Given the description of an element on the screen output the (x, y) to click on. 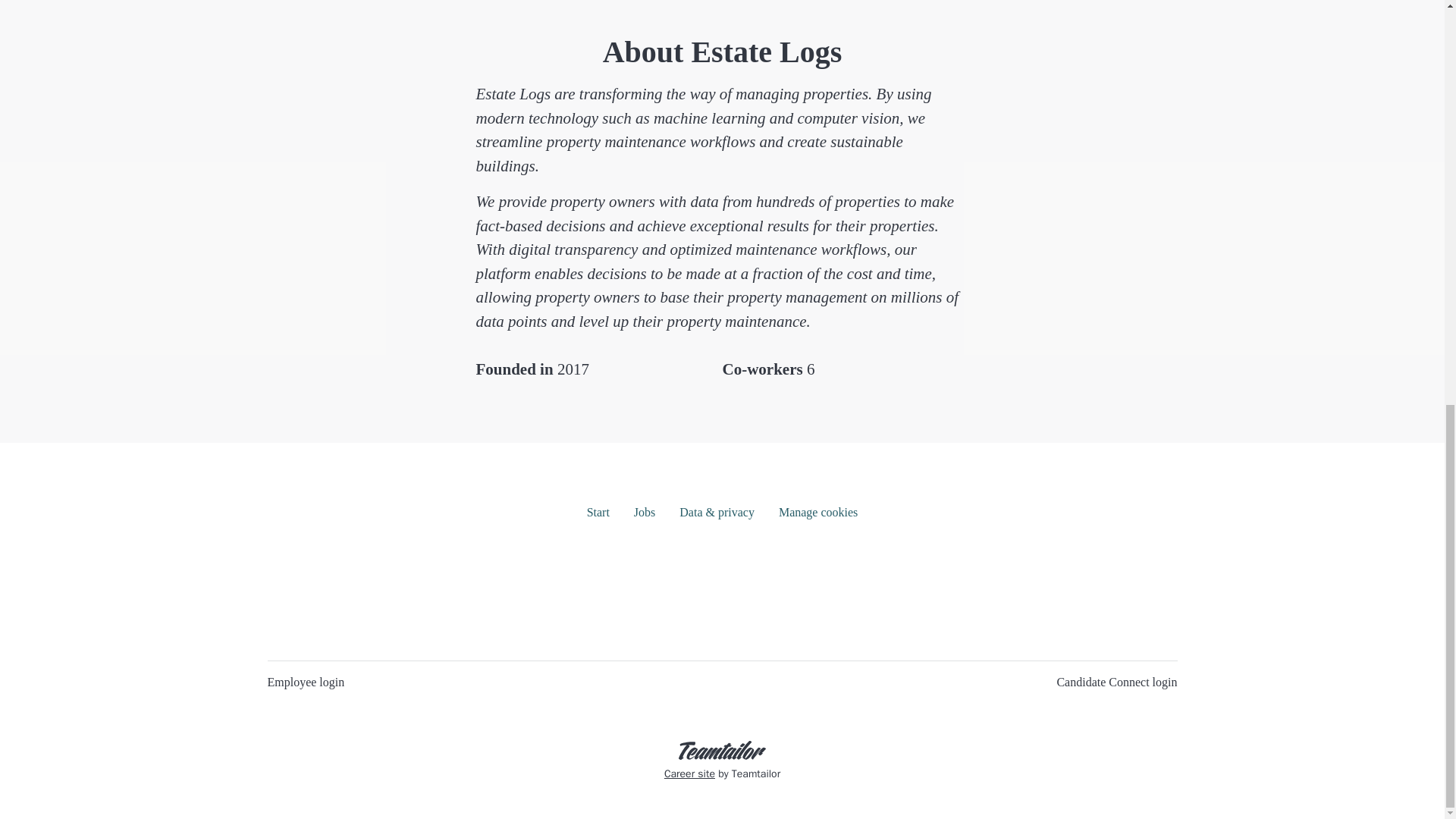
Manage cookies (818, 511)
Career site by Teamtailor (722, 760)
Jobs (643, 511)
Candidate Connect login (1116, 682)
Start (598, 511)
Employee login (304, 682)
